Given the description of an element on the screen output the (x, y) to click on. 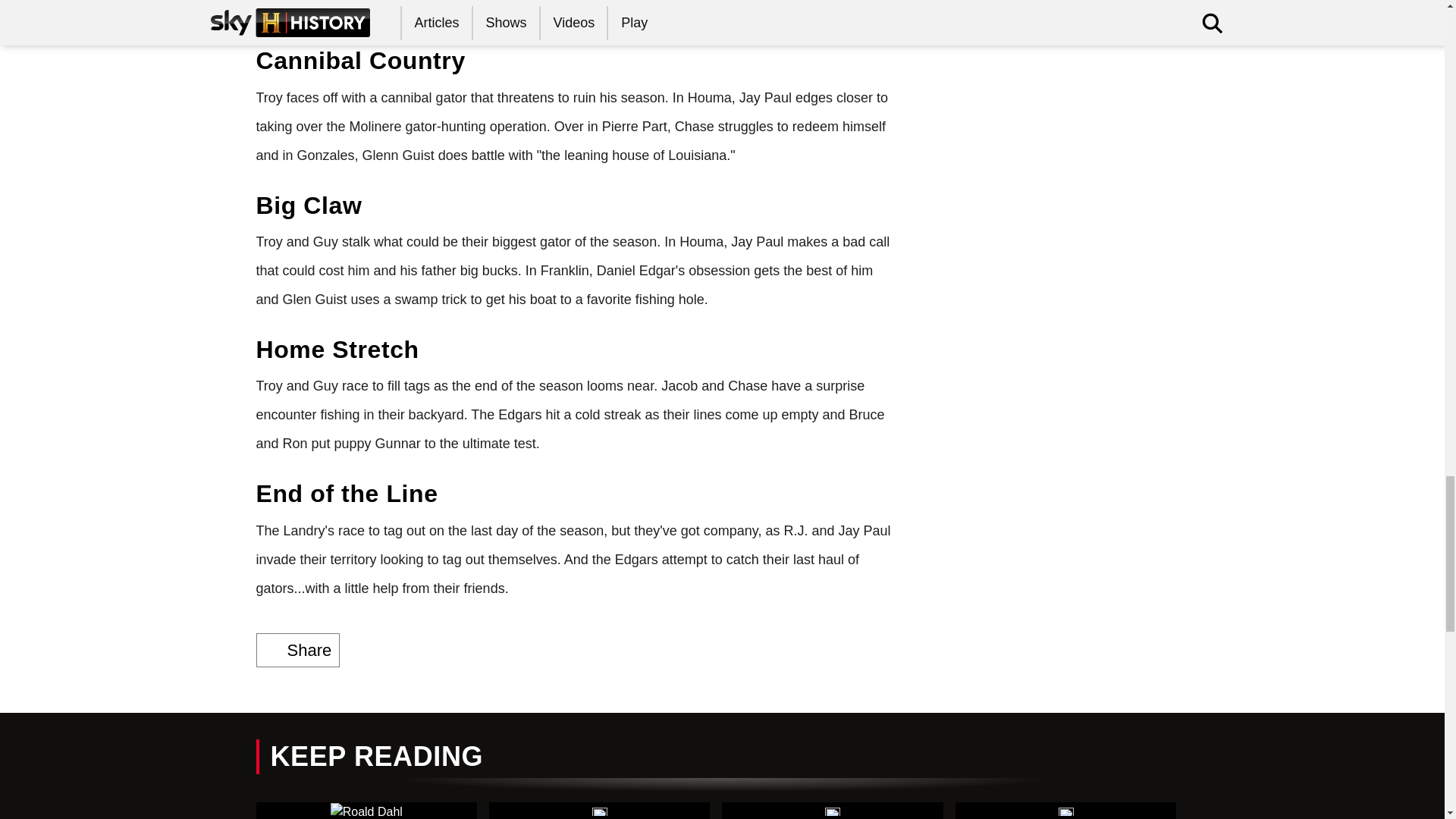
Storage Wars: Texas Series 6 (1065, 810)
Storage Wars: Barry's Best Buys (599, 810)
Share (298, 650)
Roald Dahl's secret life as a WW2 spy (366, 810)
Storage Wars: Miami Series 1 (832, 810)
